Given the description of an element on the screen output the (x, y) to click on. 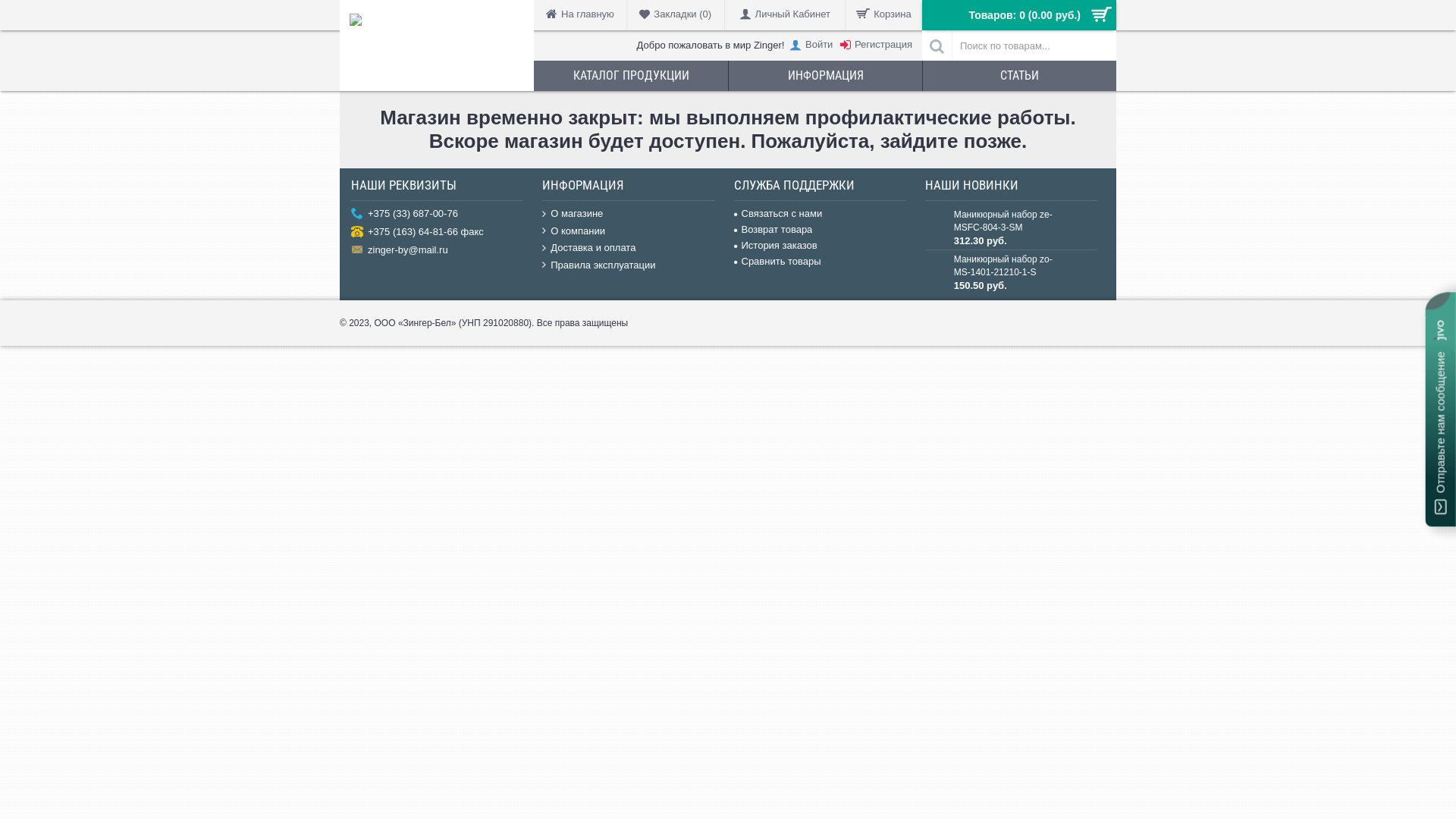
zinger-by@mail.ru Element type: text (437, 250)
